Given the description of an element on the screen output the (x, y) to click on. 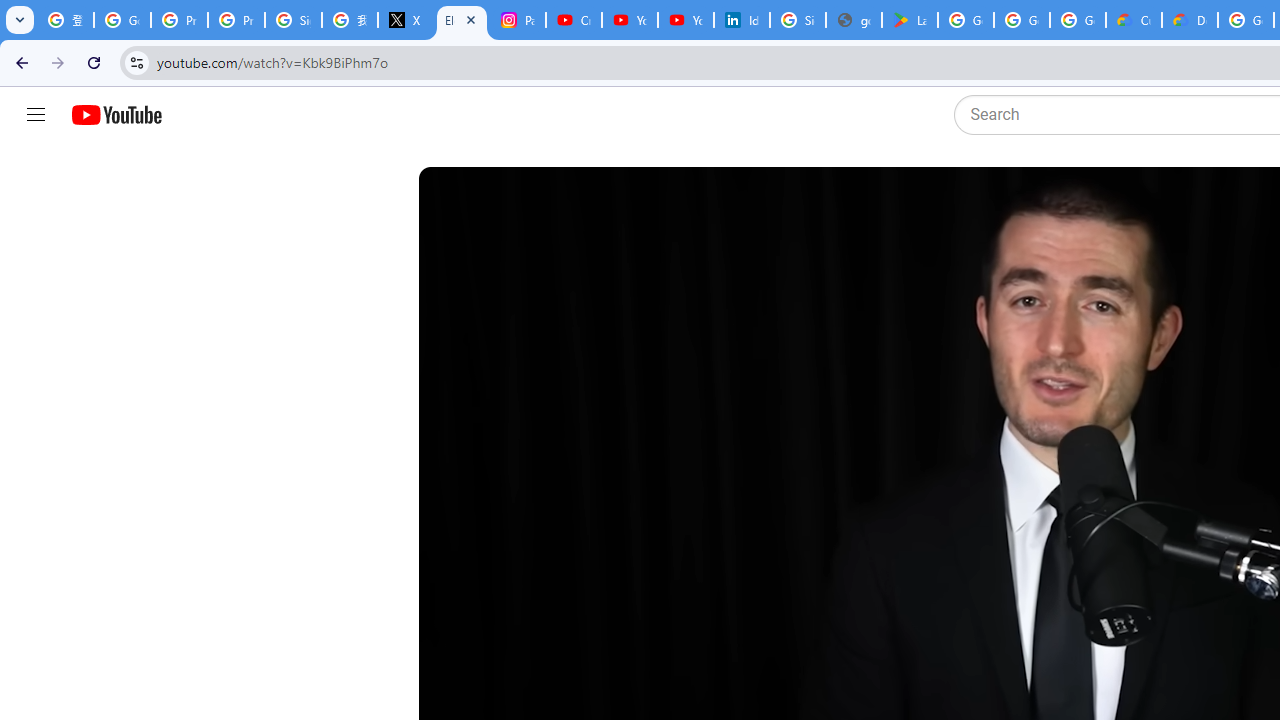
Privacy Help Center - Policies Help (179, 20)
Google Workspace - Specific Terms (1077, 20)
Sign in - Google Accounts (797, 20)
Google Workspace - Specific Terms (1021, 20)
YouTube Culture & Trends - YouTube Top 10, 2021 (685, 20)
